Given the description of an element on the screen output the (x, y) to click on. 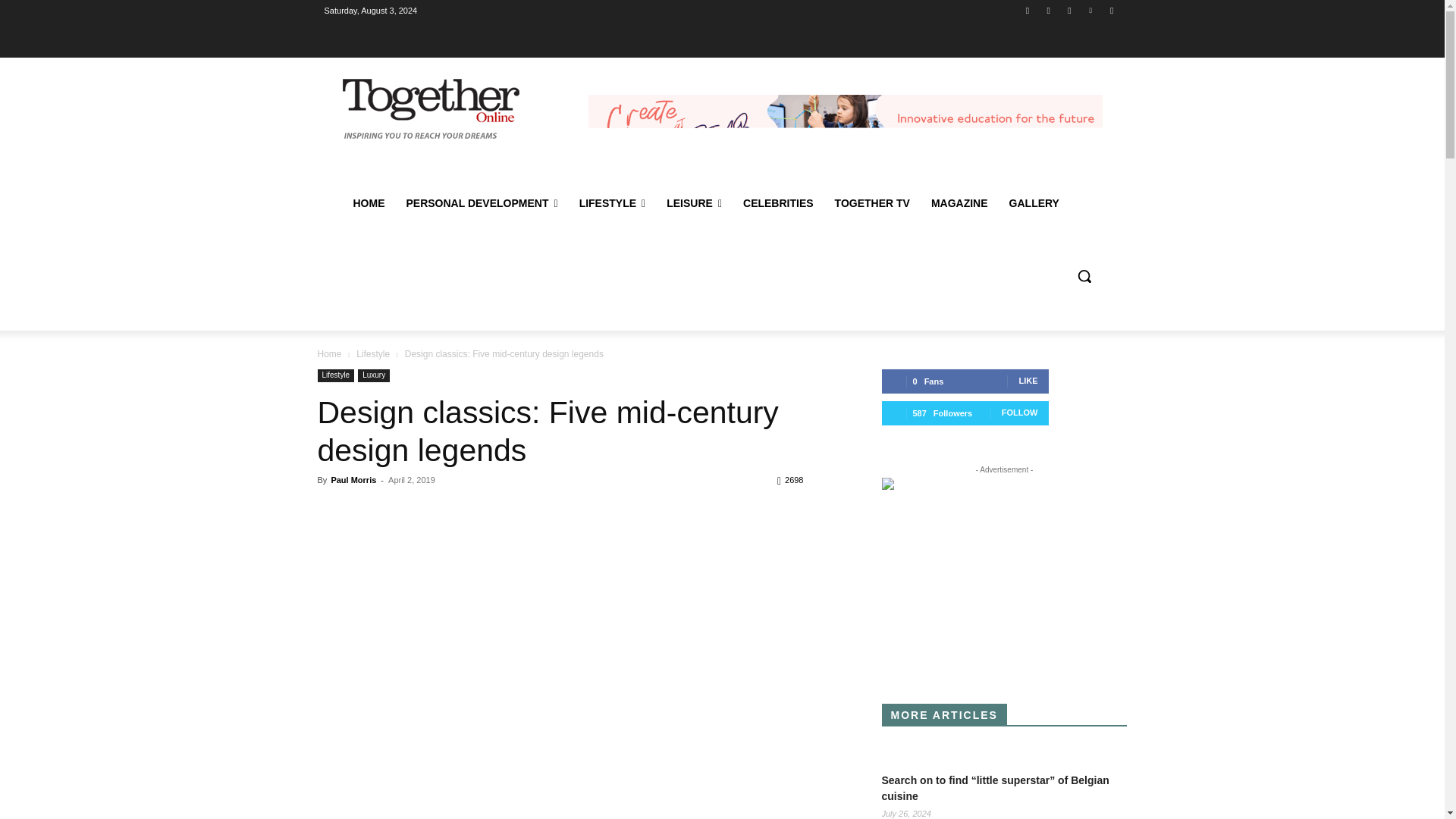
Vimeo (1090, 9)
Twitter (1069, 9)
LIFESTYLE (612, 203)
HOME (369, 203)
View all posts in Lifestyle (373, 353)
Instagram (1048, 9)
PERSONAL DEVELOPMENT (482, 203)
Youtube (1112, 9)
Facebook (1027, 9)
